Given the description of an element on the screen output the (x, y) to click on. 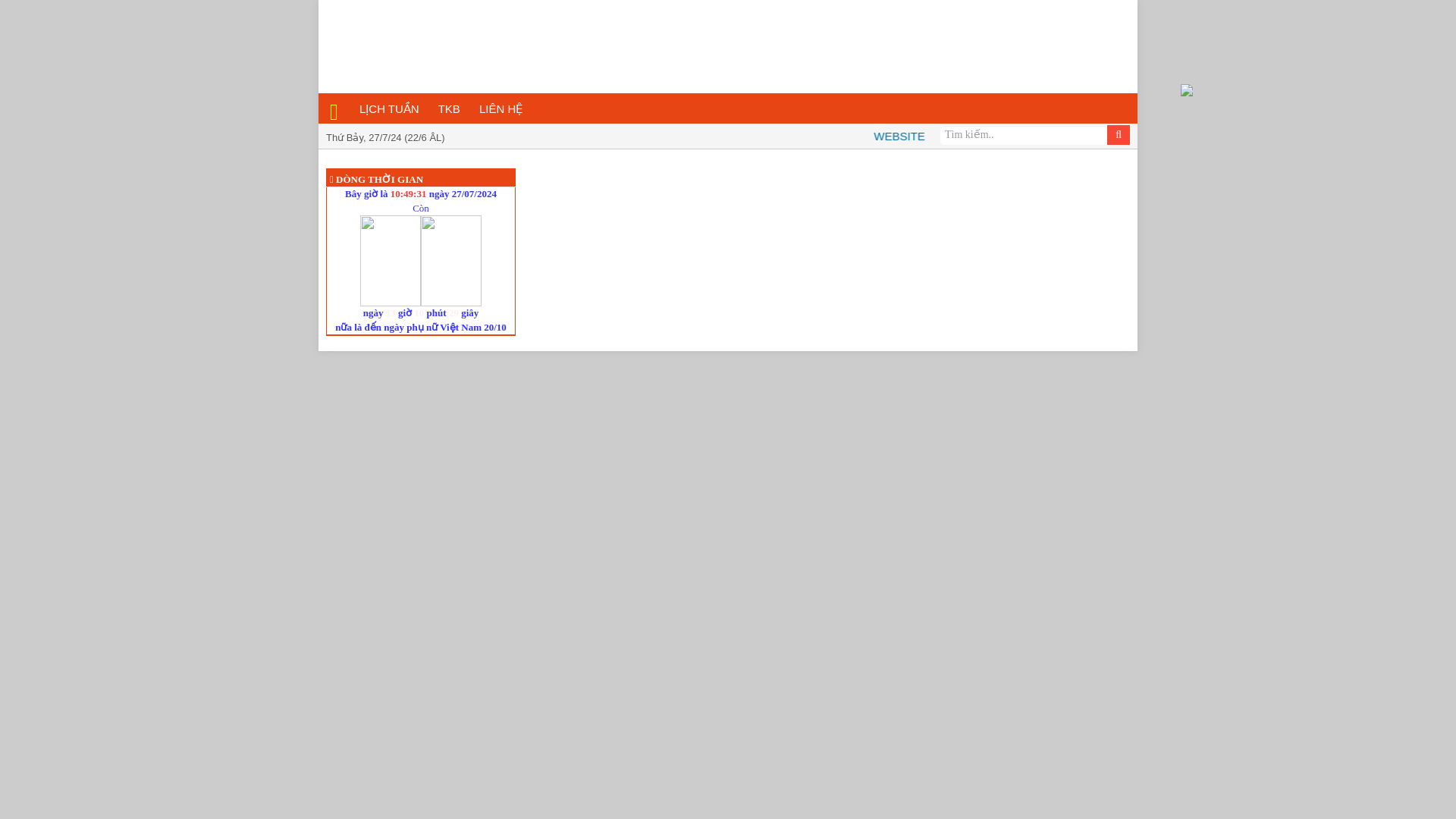
TKB (449, 109)
TKB (449, 109)
